Given the description of an element on the screen output the (x, y) to click on. 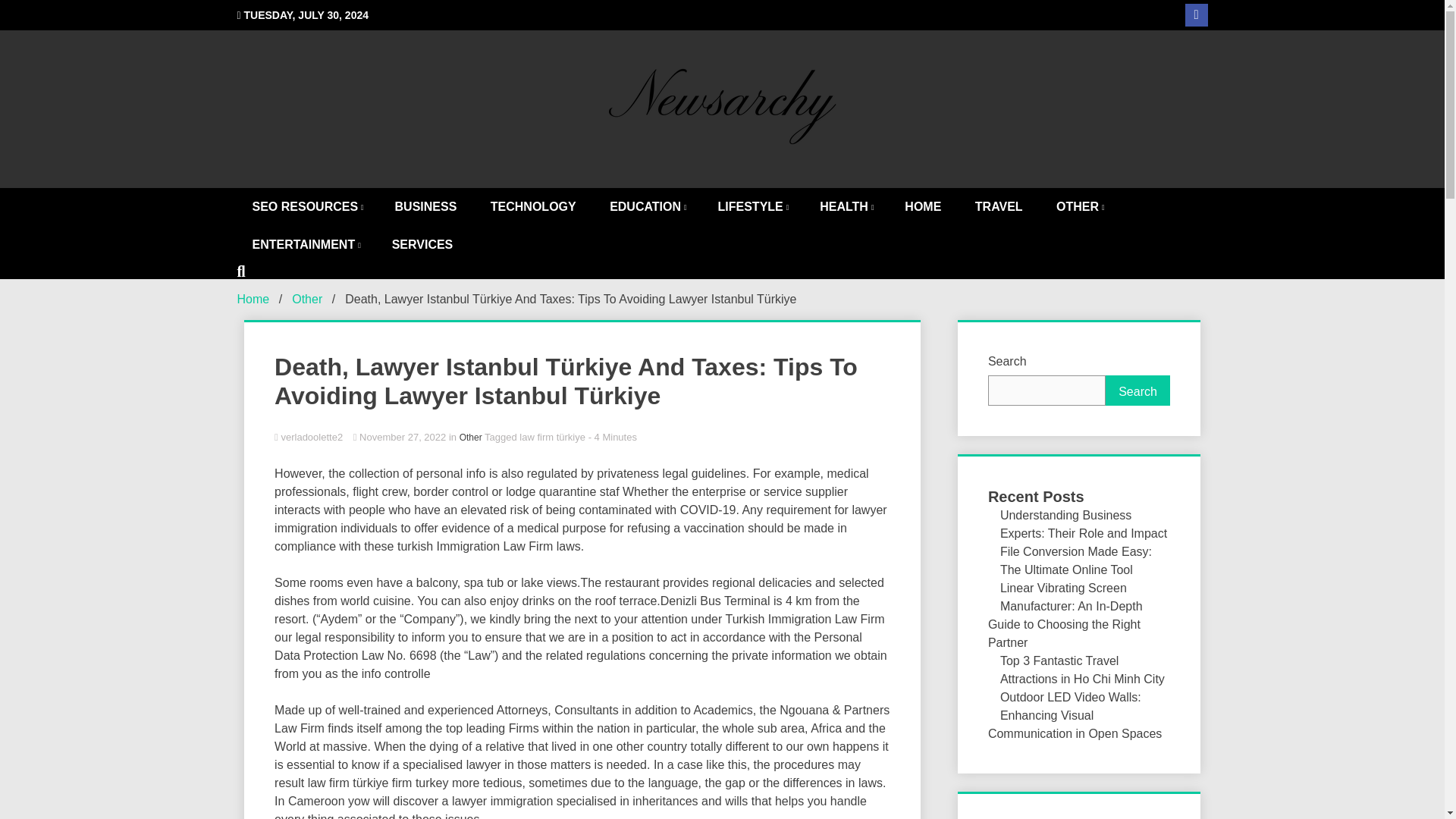
Other (470, 437)
TECHNOLOGY (533, 207)
ENTERTAINMENT (303, 244)
LIFESTYLE (752, 207)
November 27, 2022 (400, 437)
Estimated Reading Time of Article (612, 437)
Home (252, 298)
SERVICES (422, 244)
OTHER (1078, 207)
Newsarchy (812, 206)
TRAVEL (998, 207)
HEALTH (845, 207)
BUSINESS (425, 207)
EDUCATION (646, 207)
SEO RESOURCES (305, 207)
